Given the description of an element on the screen output the (x, y) to click on. 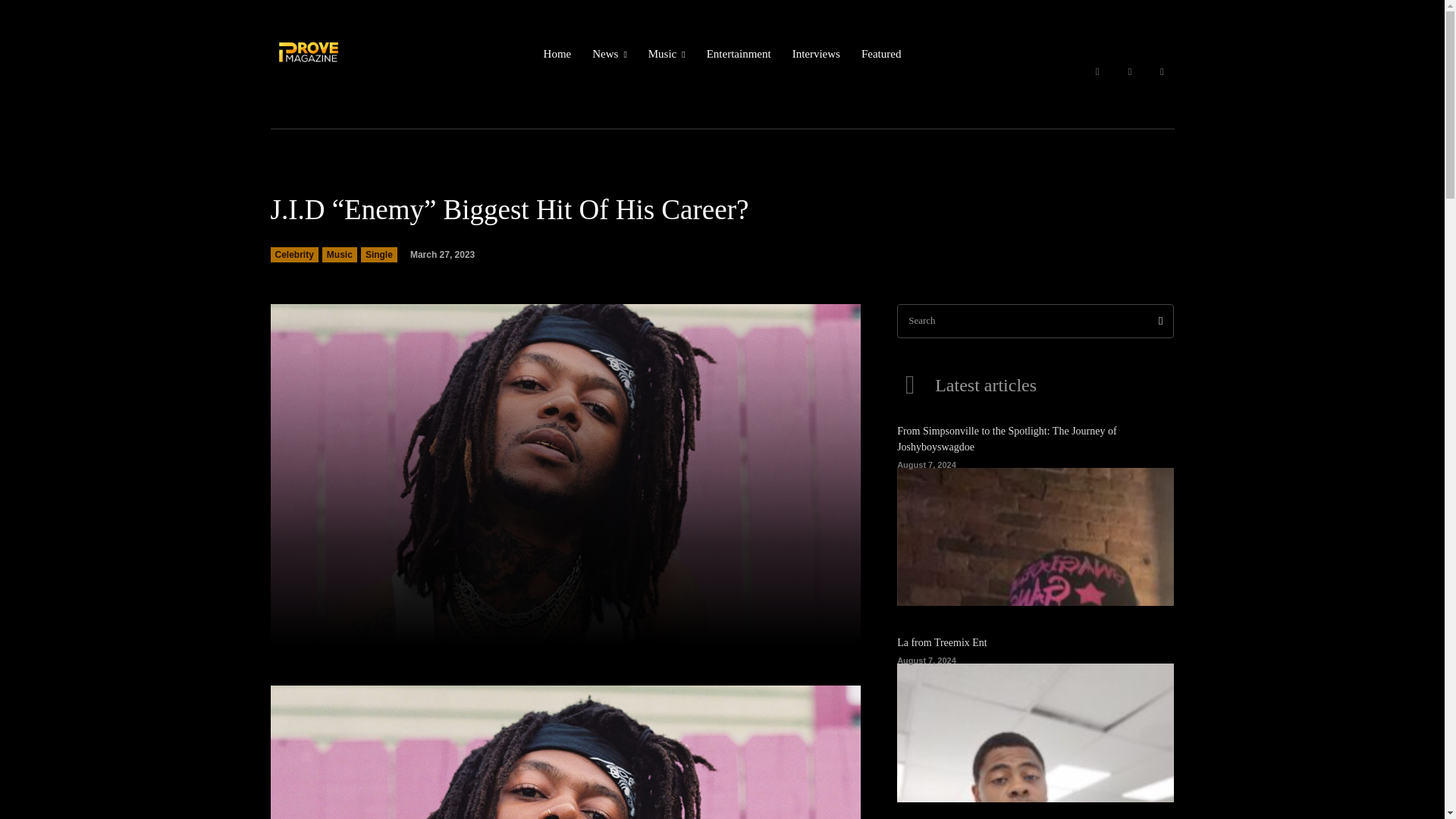
La from Treemix Ent (1034, 732)
Facebook (1096, 72)
Instagram (1130, 72)
Twitter (1162, 72)
